Given the description of an element on the screen output the (x, y) to click on. 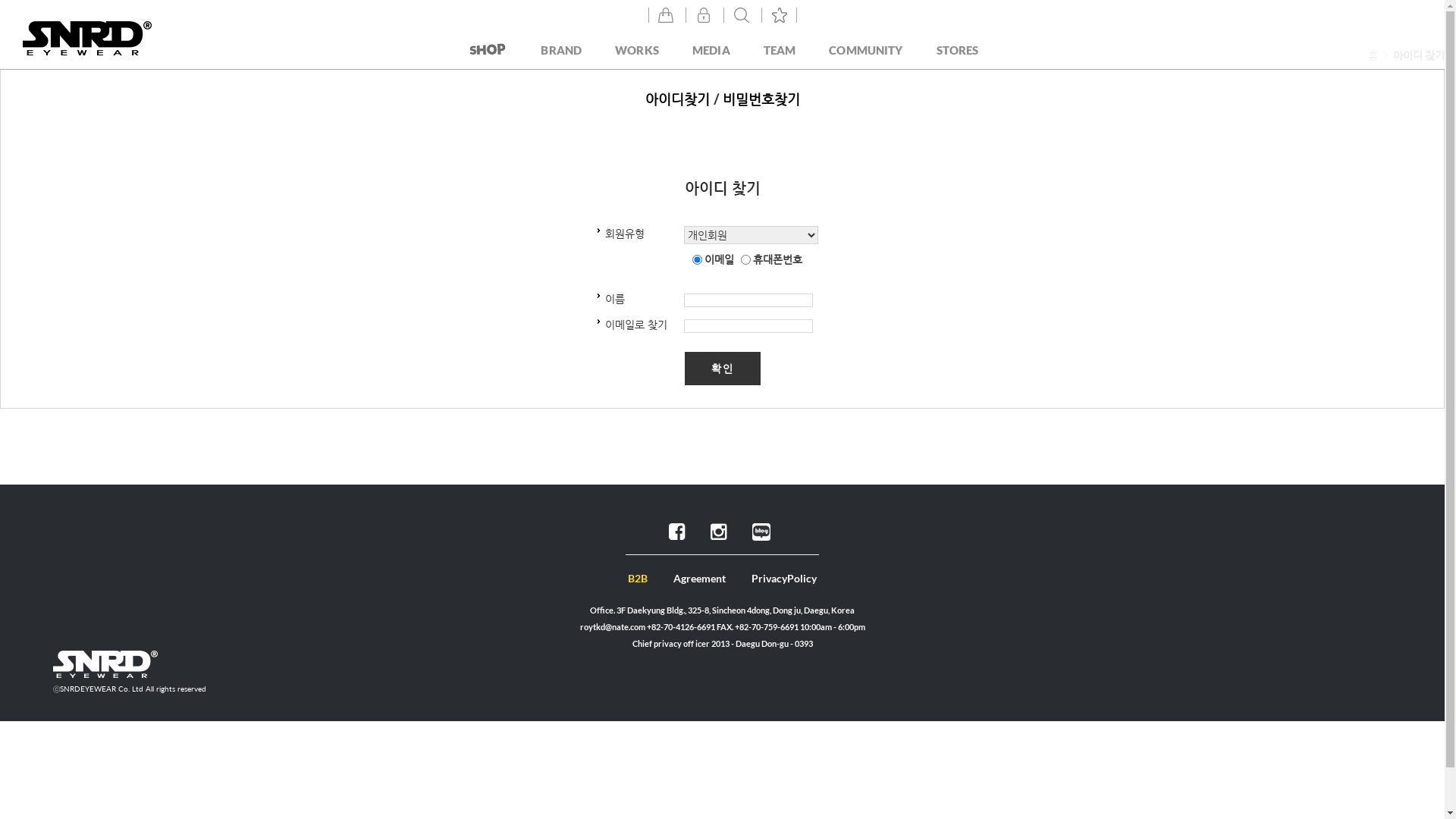
WORKS Element type: text (636, 49)
MEDIA Element type: text (711, 49)
STORES Element type: text (957, 49)
Agreement Element type: text (699, 577)
PrivacyPolicy Element type: text (783, 577)
BRAND Element type: text (562, 49)
logo Element type: hover (86, 37)
B2B Element type: text (637, 577)
TEAM Element type: text (779, 49)
COMMUNITY Element type: text (865, 49)
